Given the description of an element on the screen output the (x, y) to click on. 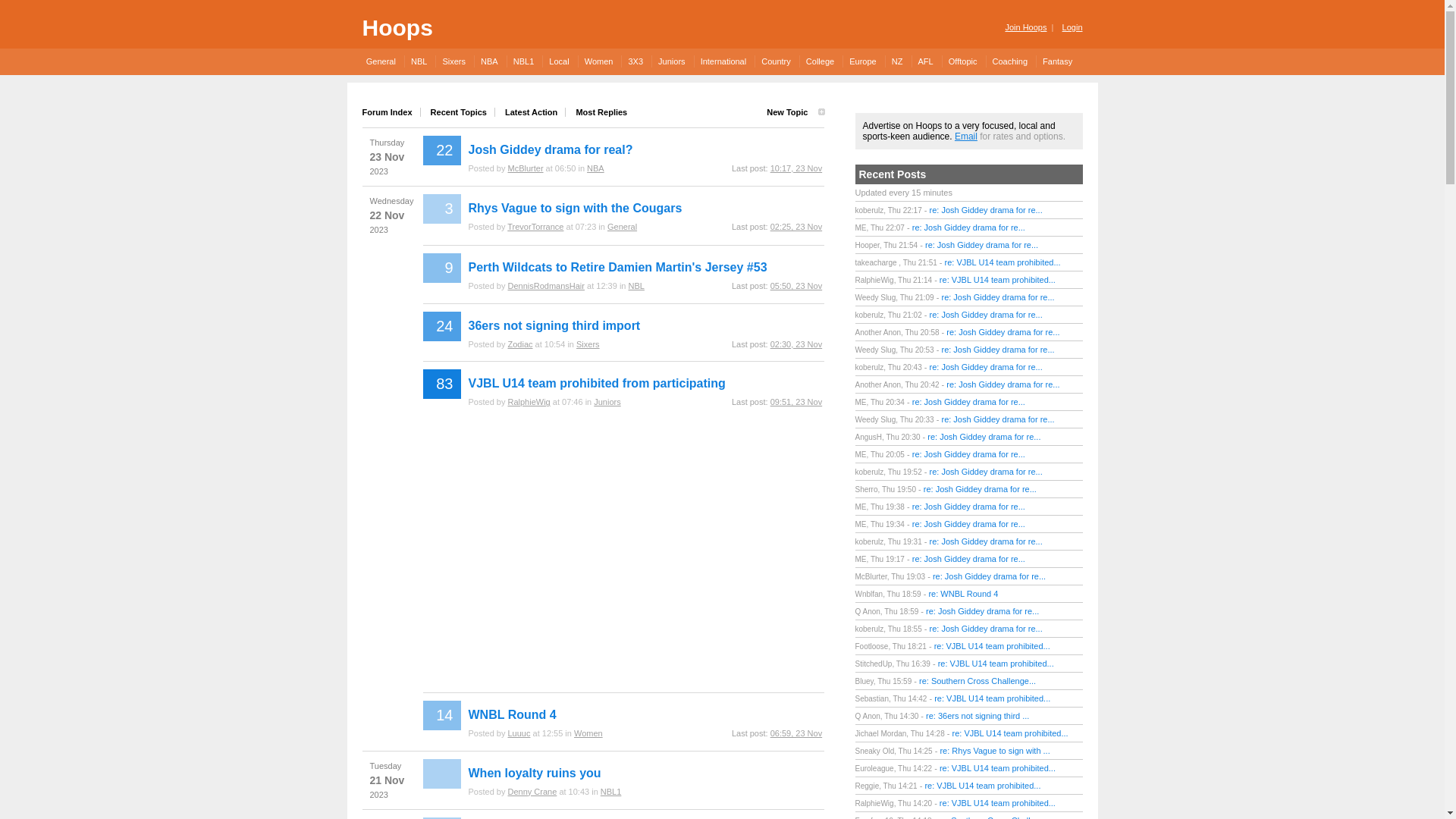
Jichael Mordan Element type: text (880, 733)
83 Element type: text (441, 383)
Forum Index Element type: text (391, 111)
ME Element type: text (860, 524)
re: Josh Giddey drama for re... Element type: text (968, 558)
Join Hoops Element type: text (1025, 26)
When loyalty ruins you Element type: text (534, 772)
Sixers Element type: text (453, 61)
koberulz Element type: text (869, 628)
Zodiac Element type: text (519, 343)
Local Element type: text (558, 61)
International Element type: text (723, 61)
22 Element type: text (441, 150)
3X3 Element type: text (635, 61)
koberulz Element type: text (869, 541)
02:30, 23 Nov Element type: text (796, 343)
Q Anon Element type: text (867, 716)
Another Anon Element type: text (878, 384)
Perth Wildcats to Retire Damien Martin's Jersey #53 Element type: text (617, 266)
re: Josh Giddey drama for re... Element type: text (1002, 384)
koberulz Element type: text (869, 210)
Login Element type: text (1070, 26)
re: Josh Giddey drama for re... Element type: text (981, 610)
Email Element type: text (965, 136)
Country Element type: text (775, 61)
re: Josh Giddey drama for re... Element type: text (988, 575)
re: Josh Giddey drama for re... Element type: text (968, 453)
02:25, 23 Nov Element type: text (796, 226)
ME Element type: text (860, 227)
re: Josh Giddey drama for re... Element type: text (983, 436)
09:51, 23 Nov Element type: text (796, 401)
re: Josh Giddey drama for re... Element type: text (997, 418)
General Element type: text (383, 61)
re: Josh Giddey drama for re... Element type: text (1002, 331)
Reggie Element type: text (867, 785)
Wnblfan Element type: text (869, 593)
RalphieWig Element type: text (874, 803)
re: Josh Giddey drama for re... Element type: text (985, 366)
re: Josh Giddey drama for re... Element type: text (985, 314)
re: VJBL U14 team prohibited... Element type: text (1010, 732)
re: 36ers not signing third ... Element type: text (977, 715)
re: VJBL U14 team prohibited... Element type: text (982, 785)
Sebastian Element type: text (871, 698)
Another Anon Element type: text (878, 332)
re: Josh Giddey drama for re... Element type: text (968, 506)
Weedy Slug Element type: text (875, 297)
Sneaky Old Element type: text (874, 750)
Fantasy Element type: text (1056, 61)
Weedy Slug Element type: text (875, 349)
NBL Element type: text (635, 285)
Josh Giddey drama for real? Element type: text (550, 149)
koberulz Element type: text (869, 367)
Women Element type: text (598, 61)
New Topic Element type: text (791, 111)
RalphieWig Element type: text (528, 401)
Hoops Element type: text (397, 27)
VJBL U14 team prohibited from participating Element type: text (596, 382)
14 Element type: text (441, 715)
koberulz Element type: text (869, 471)
College Element type: text (819, 61)
re: VJBL U14 team prohibited... Element type: text (992, 697)
re: Southern Cross Challenge... Element type: text (977, 680)
re: VJBL U14 team prohibited... Element type: text (997, 802)
NBL Element type: text (418, 61)
re: Josh Giddey drama for re... Element type: text (968, 523)
re: VJBL U14 team prohibited... Element type: text (996, 663)
Euroleague Element type: text (874, 768)
  Element type: text (441, 773)
Q Anon Element type: text (867, 611)
General Element type: text (622, 226)
re: WNBL Round 4 Element type: text (962, 593)
NBL1 Element type: text (610, 791)
Sixers Element type: text (587, 343)
re: VJBL U14 team prohibited... Element type: text (997, 279)
NBL1 Element type: text (523, 61)
Rhys Vague to sign with the Cougars Element type: text (575, 207)
re: Josh Giddey drama for re... Element type: text (981, 244)
Most Replies Element type: text (597, 111)
NBA Element type: text (595, 167)
Juniors Element type: text (606, 401)
Offtopic Element type: text (962, 61)
AFL Element type: text (925, 61)
TrevorTorrance Element type: text (535, 226)
Weedy Slug Element type: text (875, 419)
StitchedUp Element type: text (873, 663)
36ers not signing third import Element type: text (554, 325)
Hooper Element type: text (867, 245)
Denny Crane Element type: text (531, 791)
re: Josh Giddey drama for re... Element type: text (968, 227)
McBlurter Element type: text (871, 576)
re: VJBL U14 team prohibited... Element type: text (1002, 261)
McBlurter Element type: text (524, 167)
re: Josh Giddey drama for re... Element type: text (997, 296)
ME Element type: text (860, 454)
Footloose Element type: text (871, 646)
05:50, 23 Nov Element type: text (796, 285)
re: VJBL U14 team prohibited... Element type: text (997, 767)
9 Element type: text (441, 267)
re: Josh Giddey drama for re... Element type: text (968, 401)
3 Element type: text (441, 208)
koberulz Element type: text (869, 314)
Luuuc Element type: text (518, 732)
Coaching Element type: text (1009, 61)
Women Element type: text (588, 732)
ME Element type: text (860, 402)
re: Josh Giddey drama for re... Element type: text (979, 488)
takeacharge Element type: text (877, 262)
AngusH Element type: text (868, 437)
Recent Topics Element type: text (459, 111)
re: Josh Giddey drama for re... Element type: text (985, 471)
NZ Element type: text (896, 61)
WNBL Round 4 Element type: text (512, 714)
RalphieWig Element type: text (874, 280)
re: Josh Giddey drama for re... Element type: text (985, 628)
24 Element type: text (441, 326)
DennisRodmansHair Element type: text (545, 285)
Europe Element type: text (861, 61)
ME Element type: text (860, 559)
re: Josh Giddey drama for re... Element type: text (985, 541)
Latest Action Element type: text (531, 111)
re: Josh Giddey drama for re... Element type: text (985, 209)
10:17, 23 Nov Element type: text (796, 167)
re: Rhys Vague to sign with ... Element type: text (994, 750)
06:59, 23 Nov Element type: text (796, 732)
ME Element type: text (860, 506)
re: Josh Giddey drama for re... Element type: text (997, 349)
NBA Element type: text (488, 61)
Bluey Element type: text (864, 681)
re: VJBL U14 team prohibited... Element type: text (992, 645)
Sherro Element type: text (866, 489)
Advertisement Element type: hover (624, 555)
Juniors Element type: text (670, 61)
